Given the description of an element on the screen output the (x, y) to click on. 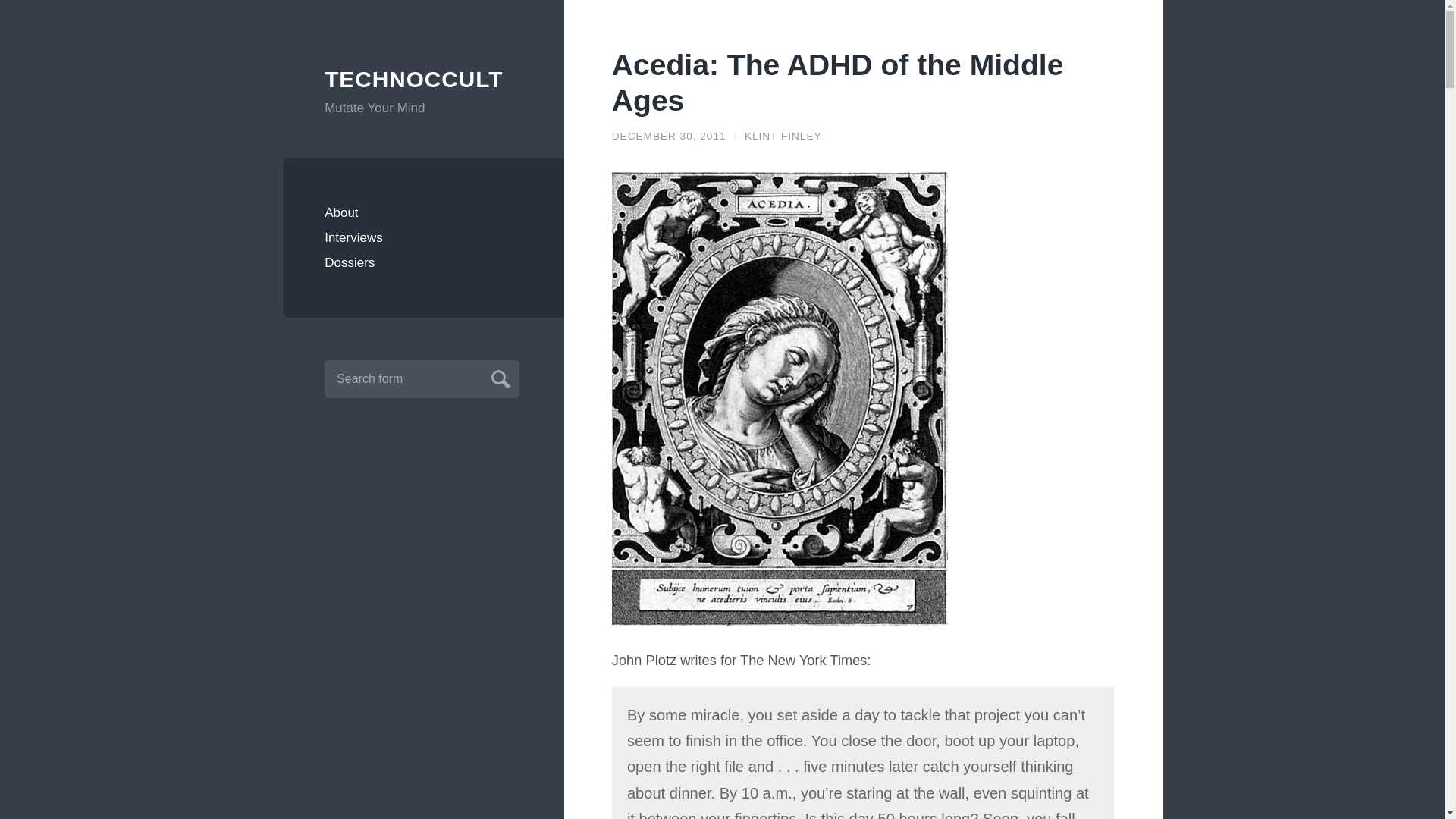
Interviews (422, 237)
Dossiers (422, 262)
Acedia: The ADHD of the Middle Ages (837, 82)
KLINT FINLEY (783, 135)
TECHNOCCULT (422, 79)
Acedia: The ADHD of the Middle Ages (837, 82)
Posts by Klint Finley (783, 135)
Search (498, 377)
About (422, 212)
Submit (498, 377)
